Given the description of an element on the screen output the (x, y) to click on. 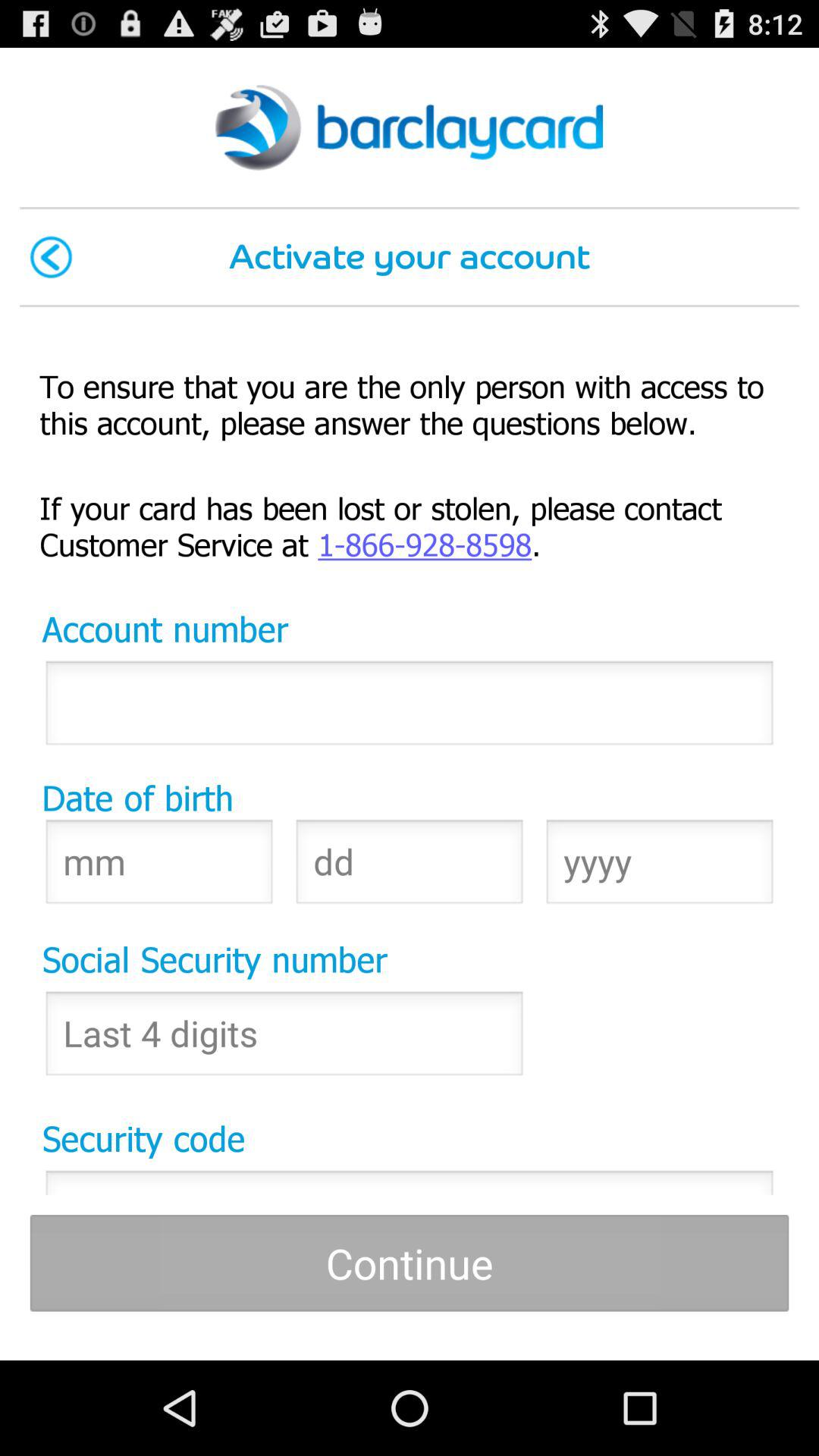
launch icon at the top left corner (50, 256)
